Given the description of an element on the screen output the (x, y) to click on. 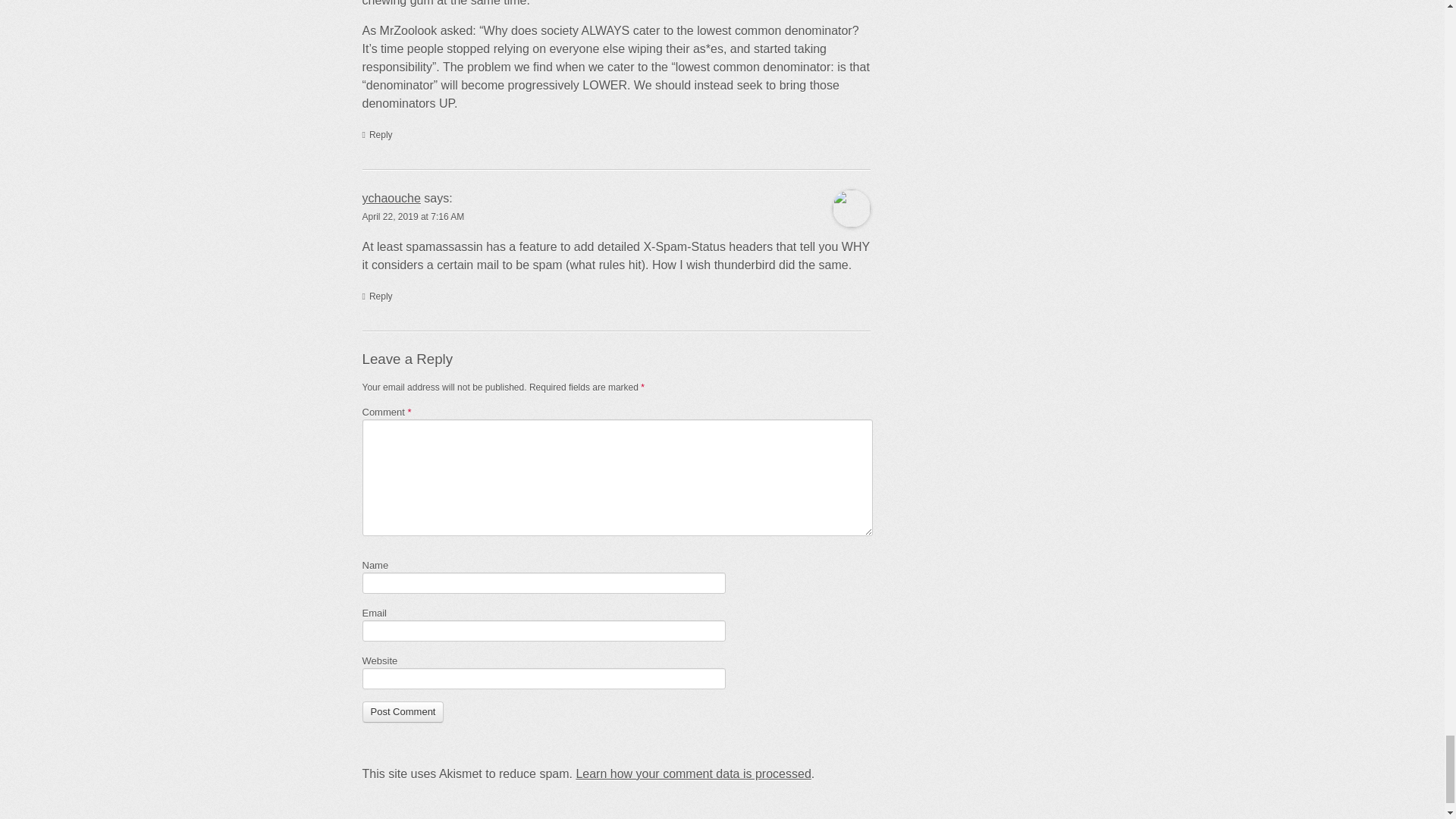
Post Comment (403, 711)
